Given the description of an element on the screen output the (x, y) to click on. 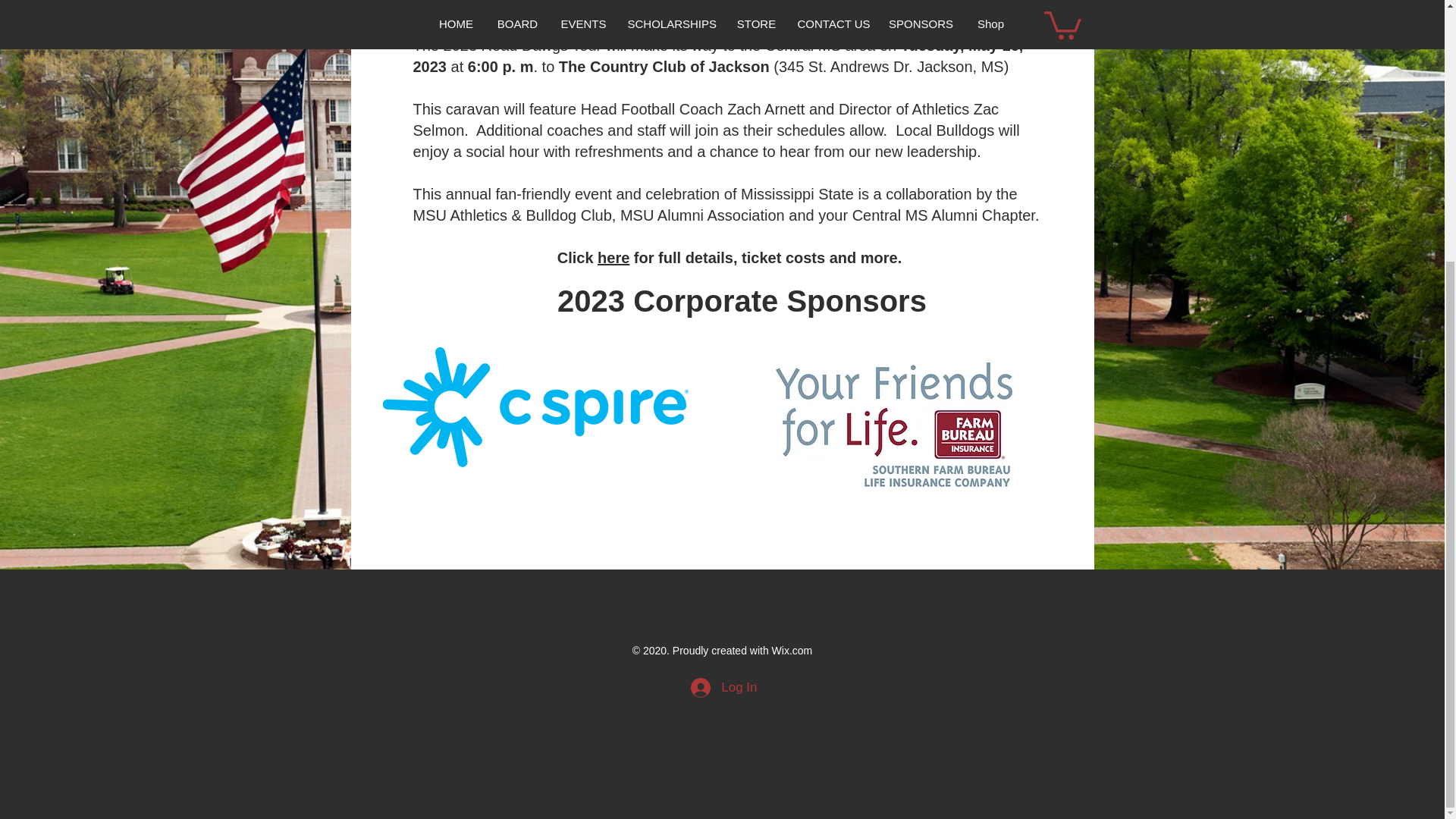
Wix.com (791, 650)
Log In (723, 687)
here (612, 257)
